Given the description of an element on the screen output the (x, y) to click on. 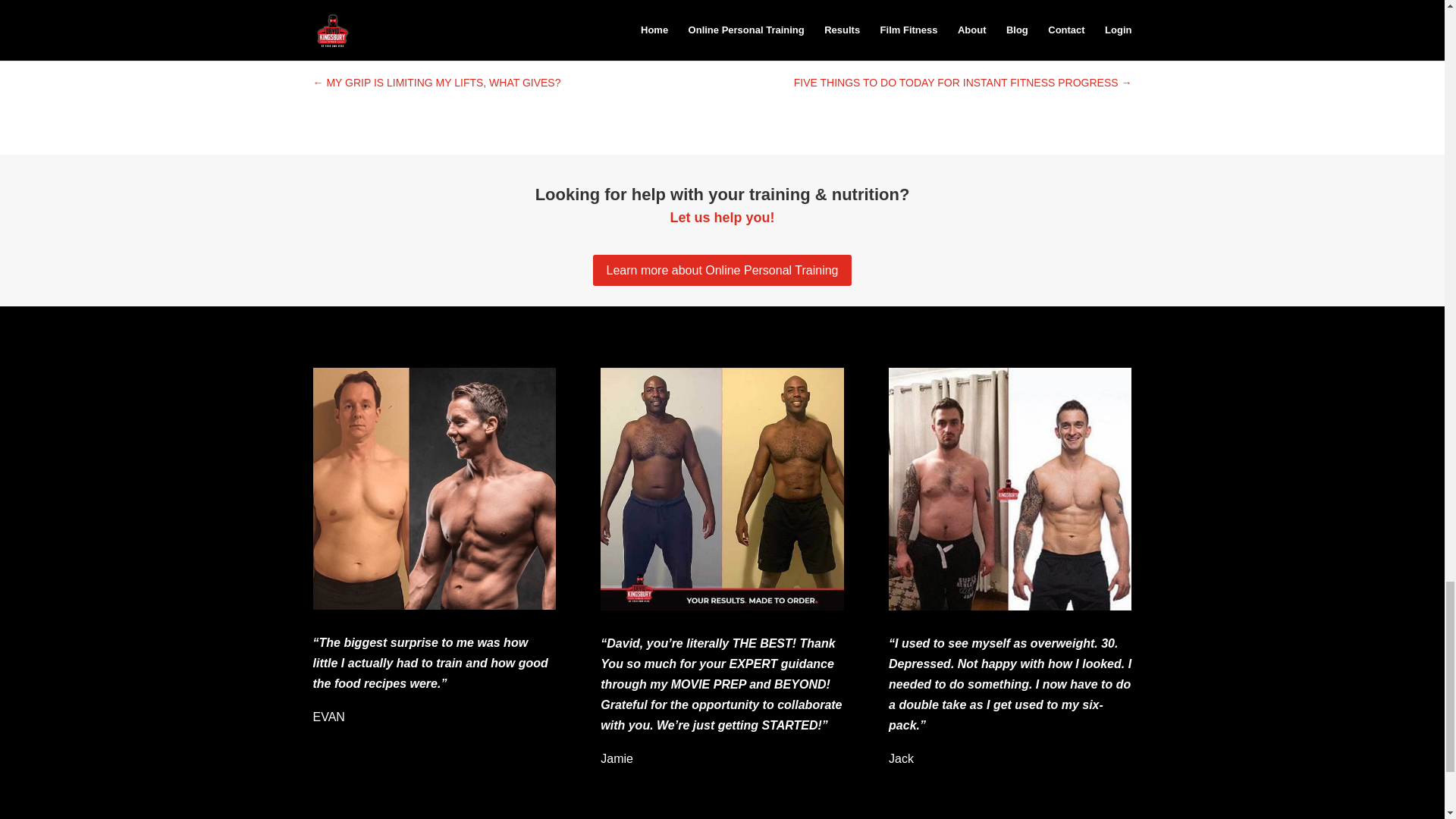
Learn more about Online Personal Training (721, 269)
